Given the description of an element on the screen output the (x, y) to click on. 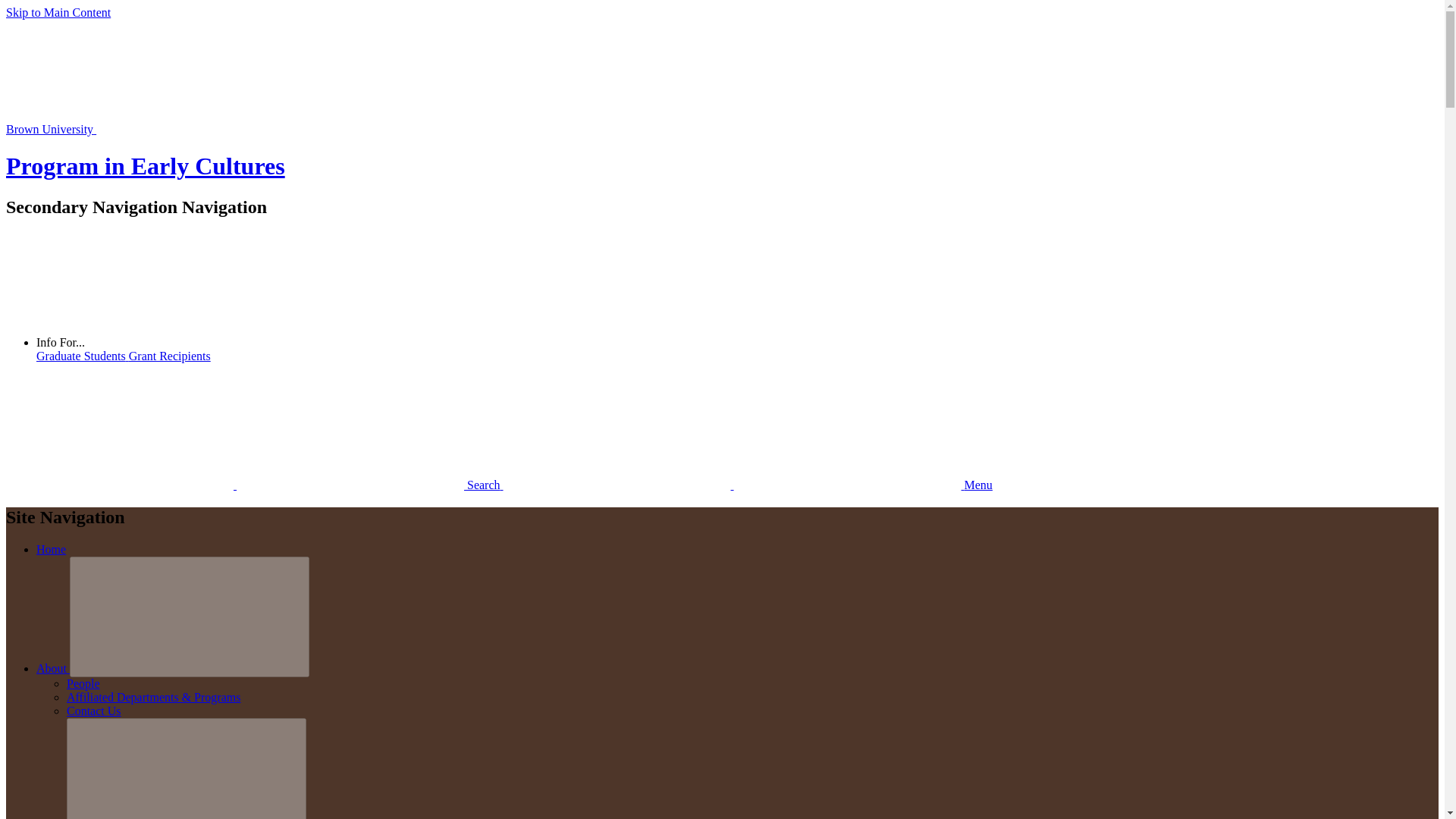
About (52, 667)
People (83, 683)
Graduate Students (82, 355)
Brown University (164, 128)
Skip to Main Content (57, 11)
Grant Recipients (170, 355)
Contact Us (93, 710)
Home (50, 549)
Search (254, 484)
Program in Early Cultures (145, 165)
Menu (747, 484)
